Given the description of an element on the screen output the (x, y) to click on. 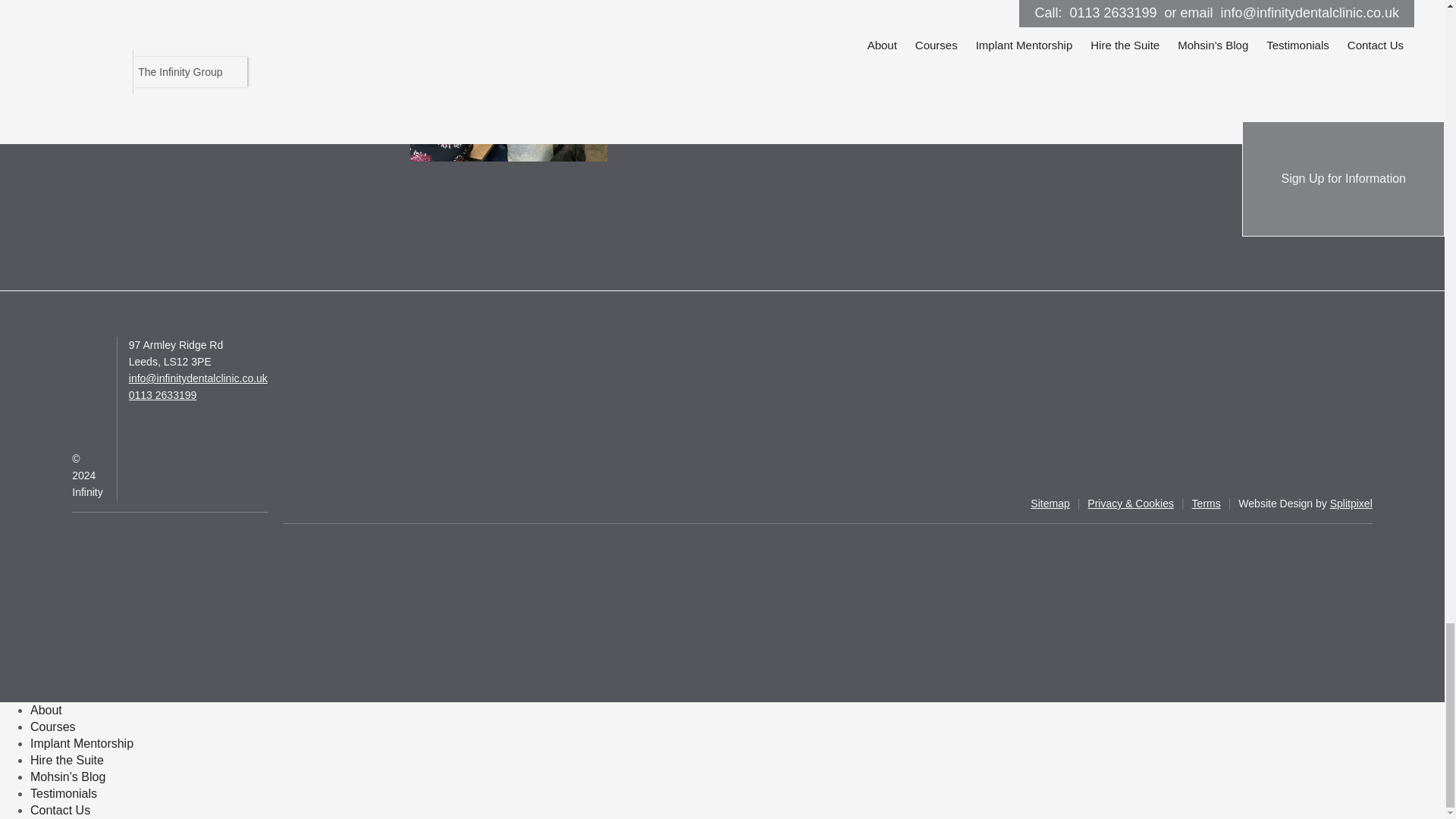
Splitpixel (1351, 503)
Sitemap (1049, 503)
Read More (680, 122)
Terms (1206, 503)
0113 2633199 (162, 395)
